Given the description of an element on the screen output the (x, y) to click on. 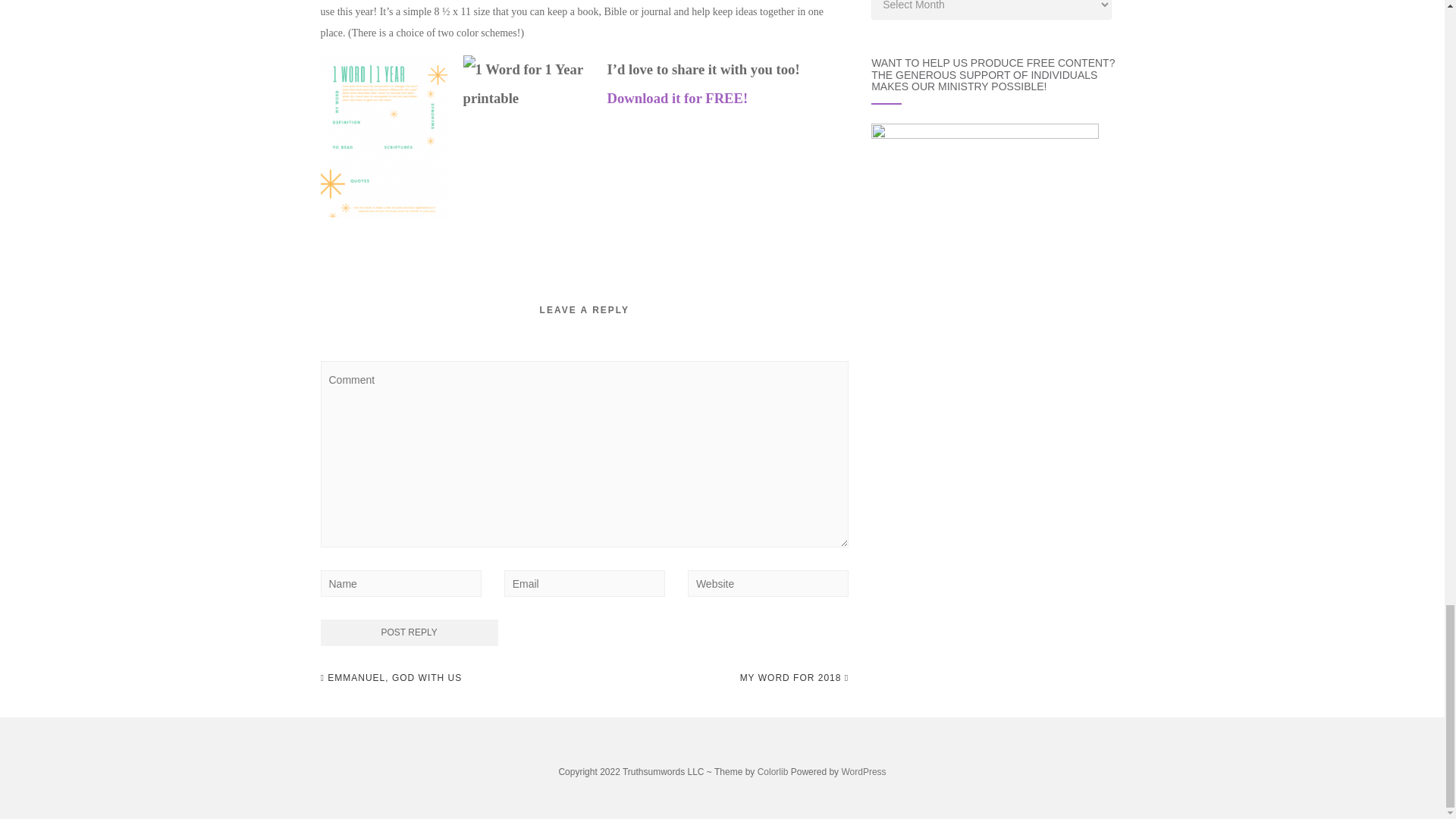
MY WORD FOR 2018 (793, 678)
Download it for FREE! (677, 98)
Post Reply (408, 632)
Post Reply (408, 632)
EMMANUEL, GOD WITH US (390, 678)
